Given the description of an element on the screen output the (x, y) to click on. 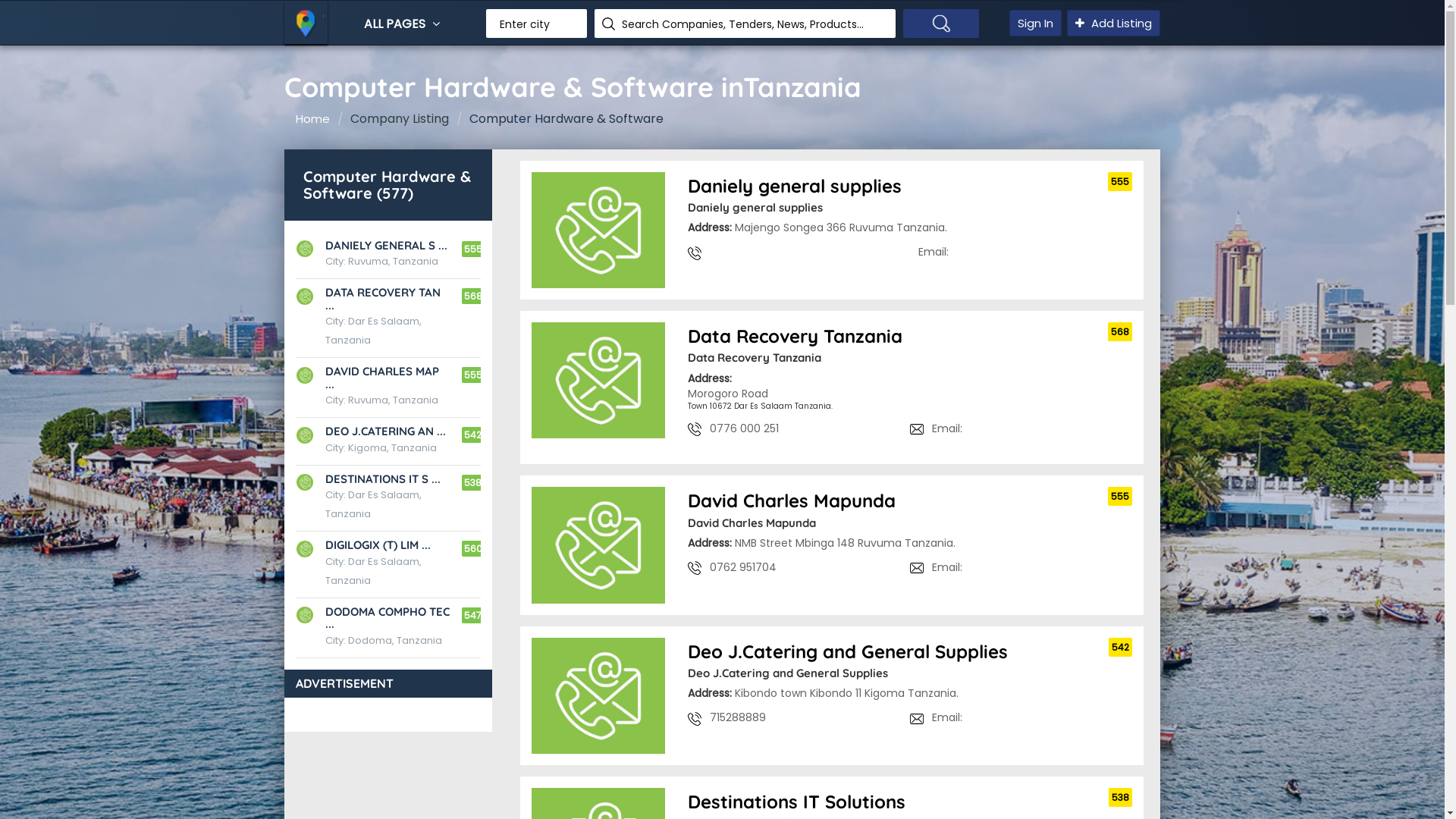
Daniely general supplies Element type: text (909, 186)
Sign In Element type: text (1035, 22)
Deo J.Catering and General Supplies Element type: text (909, 652)
Submit Element type: text (20, 7)
David Charles Mapunda Element type: text (909, 501)
Home Element type: text (312, 118)
Data Recovery Tanzania Element type: text (909, 336)
ALL PAGES Element type: text (403, 23)
Add Listing Element type: text (1113, 22)
Destinations IT Solutions Element type: text (909, 802)
